Given the description of an element on the screen output the (x, y) to click on. 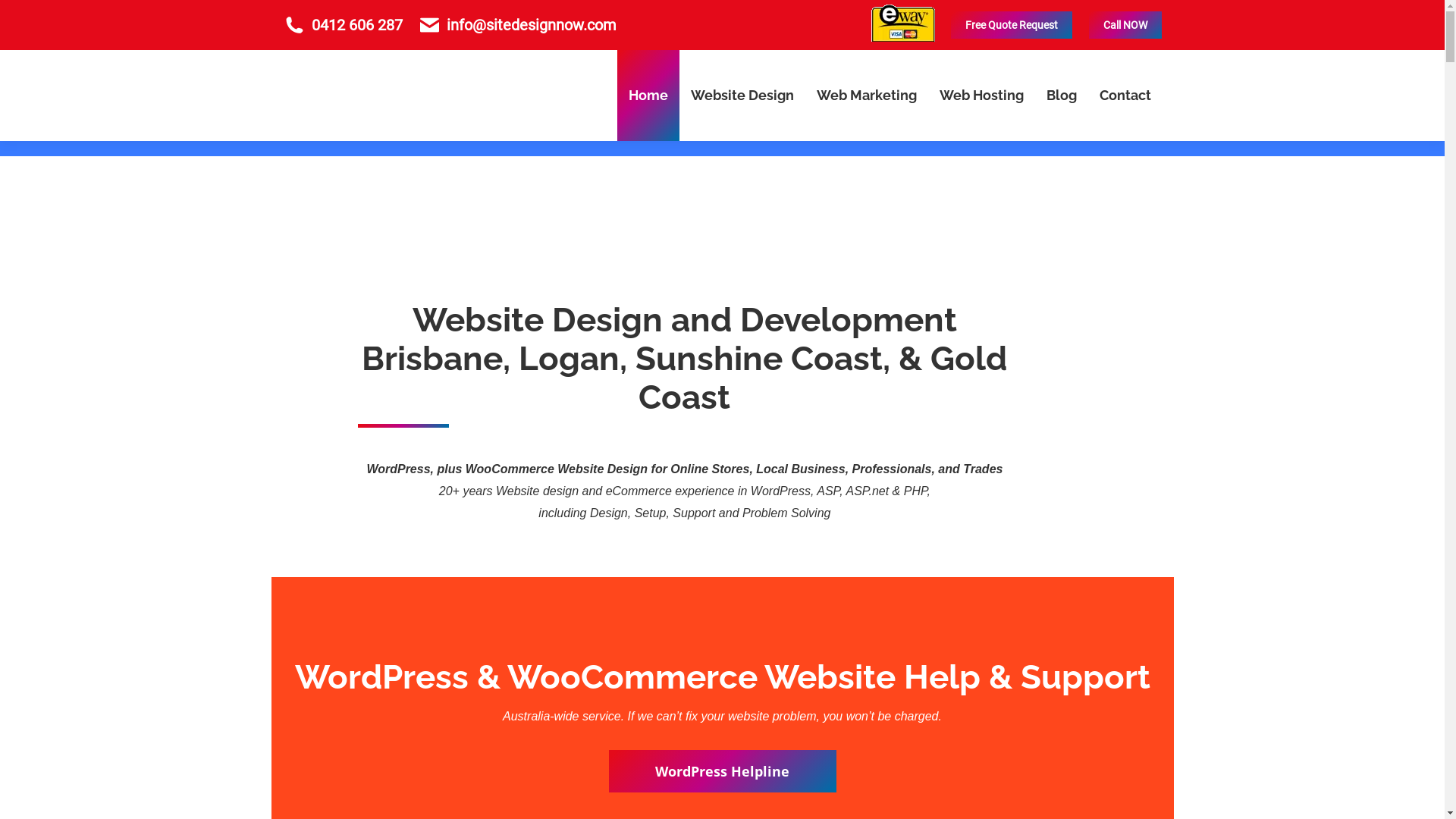
Website Design Element type: text (742, 95)
Home Element type: text (648, 95)
Secure Online Payment Element type: hover (902, 36)
Blog Element type: text (1060, 95)
Call NOW Element type: text (1124, 24)
Web Hosting Element type: text (981, 95)
0412 606 287 Element type: text (356, 24)
Free Quote Request Element type: text (1010, 24)
Web Marketing Element type: text (866, 95)
Contact Element type: text (1124, 95)
WordPress Helpline Element type: text (721, 770)
Secure Online Payment Element type: hover (902, 22)
